Given the description of an element on the screen output the (x, y) to click on. 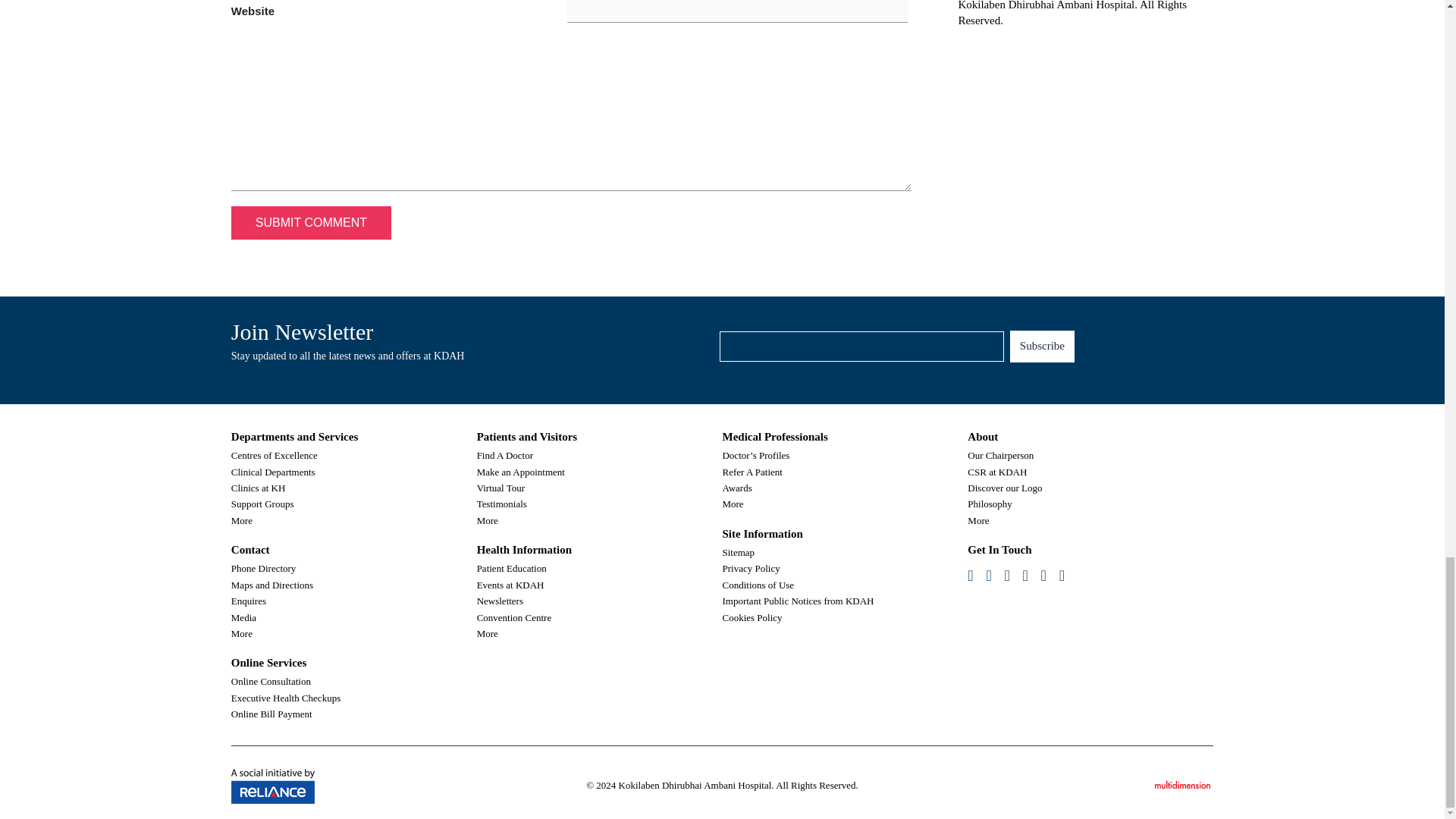
Submit Comment (311, 222)
Subscribe (1042, 346)
